Given the description of an element on the screen output the (x, y) to click on. 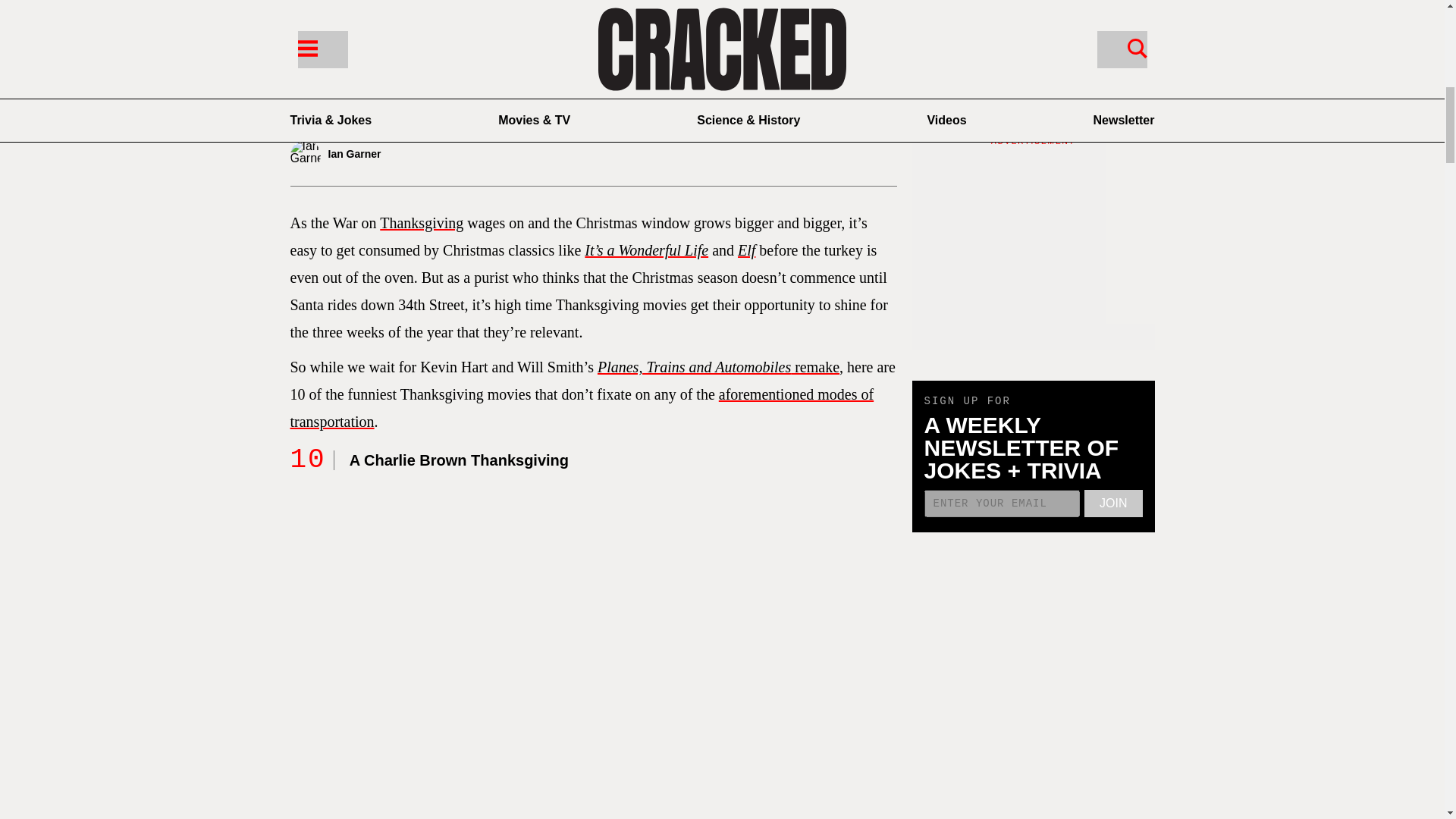
Thanksgiving (421, 222)
Ian Garner (387, 155)
Planes, Trains and Automobiles remake (718, 366)
Elf (746, 249)
aforementioned modes of transportation (581, 407)
